Given the description of an element on the screen output the (x, y) to click on. 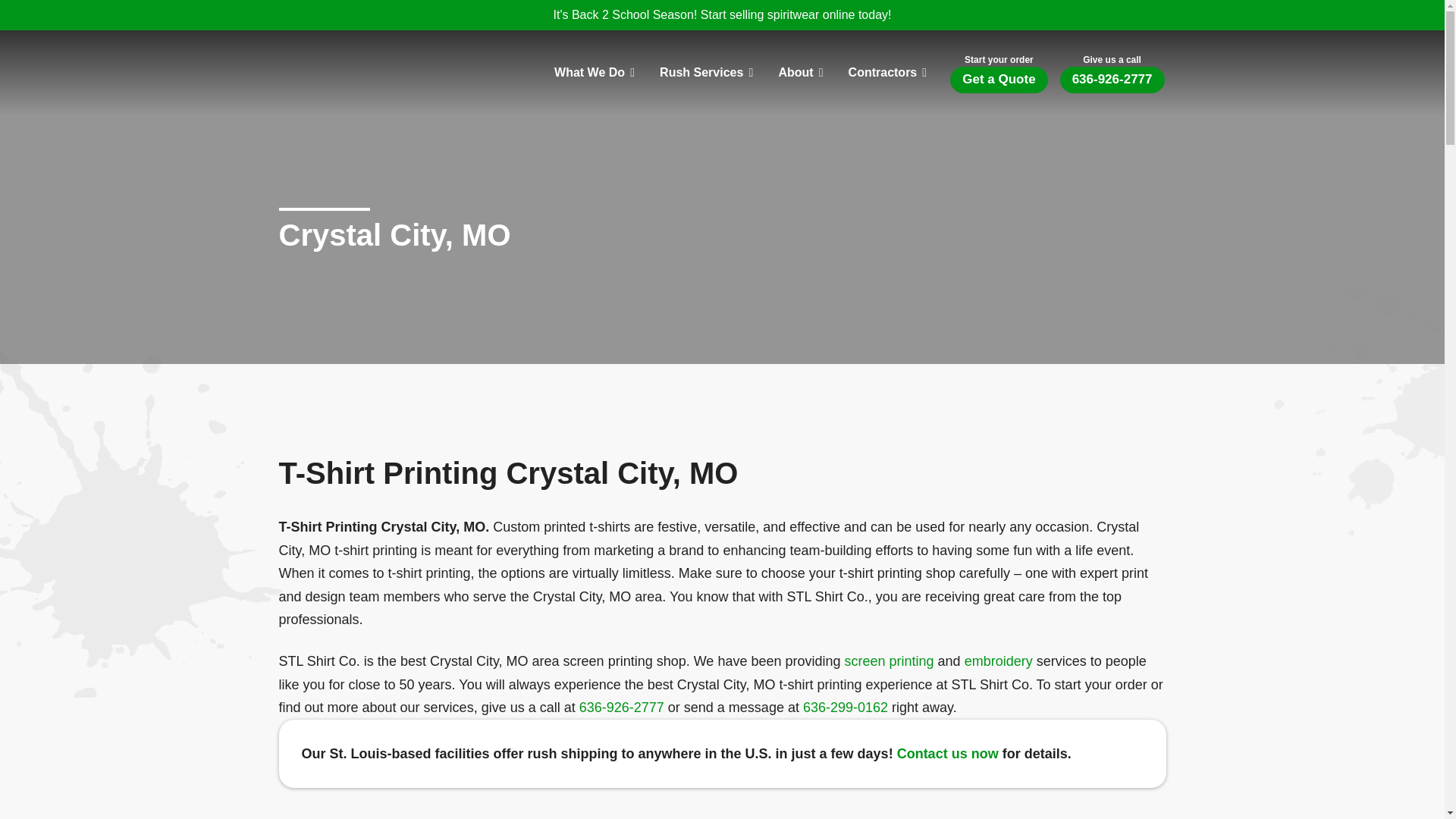
What We Do (593, 72)
